Given the description of an element on the screen output the (x, y) to click on. 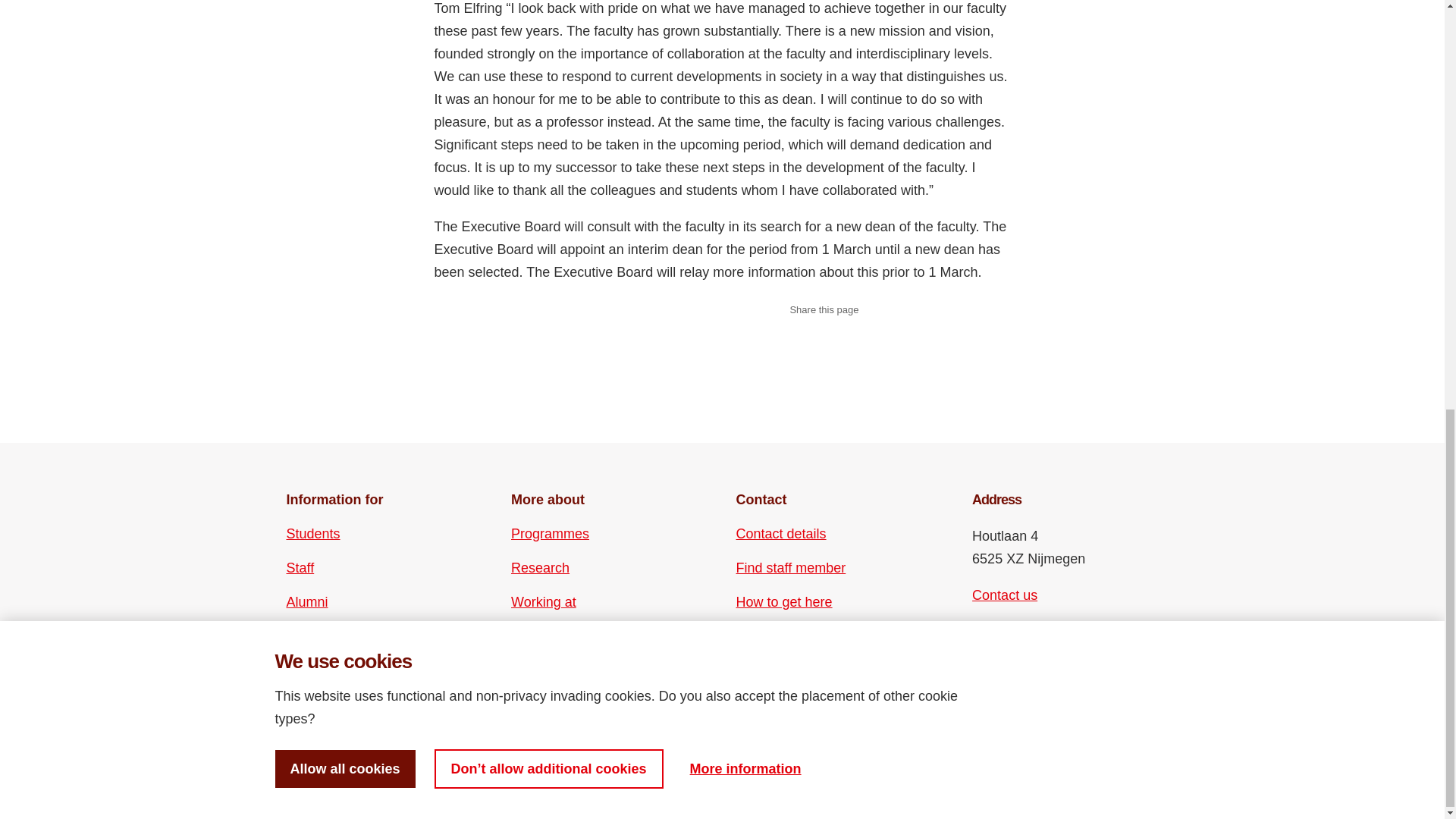
LinkedIn (1036, 640)
Instagram (1010, 640)
SnapChat (1062, 667)
X (983, 667)
Information about our campus and how to get here (784, 601)
TikTok (1036, 667)
Facebook (983, 640)
YouTube (1010, 667)
Mastodon (1062, 640)
